Given the description of an element on the screen output the (x, y) to click on. 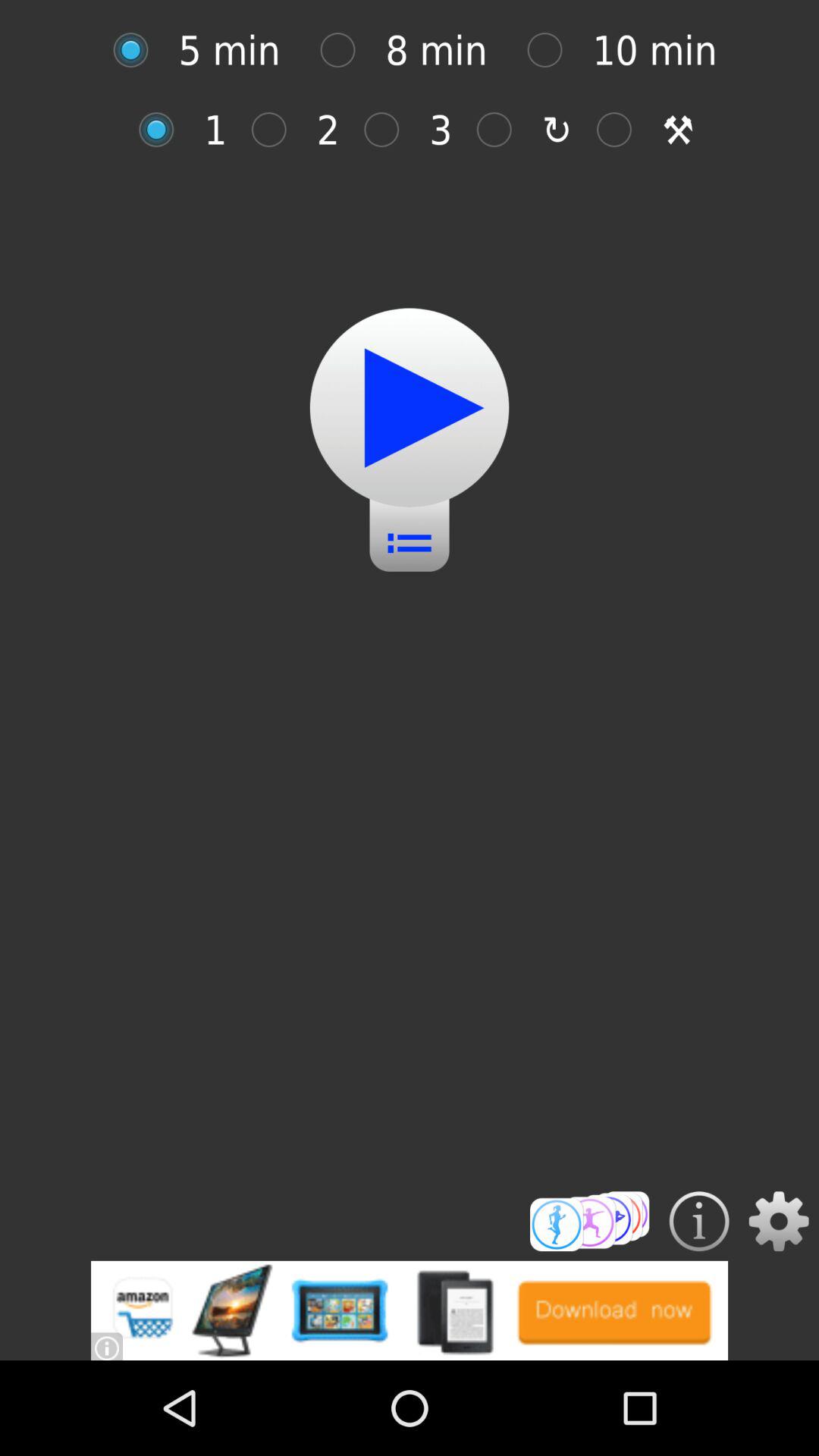
choose option (622, 129)
